Given the description of an element on the screen output the (x, y) to click on. 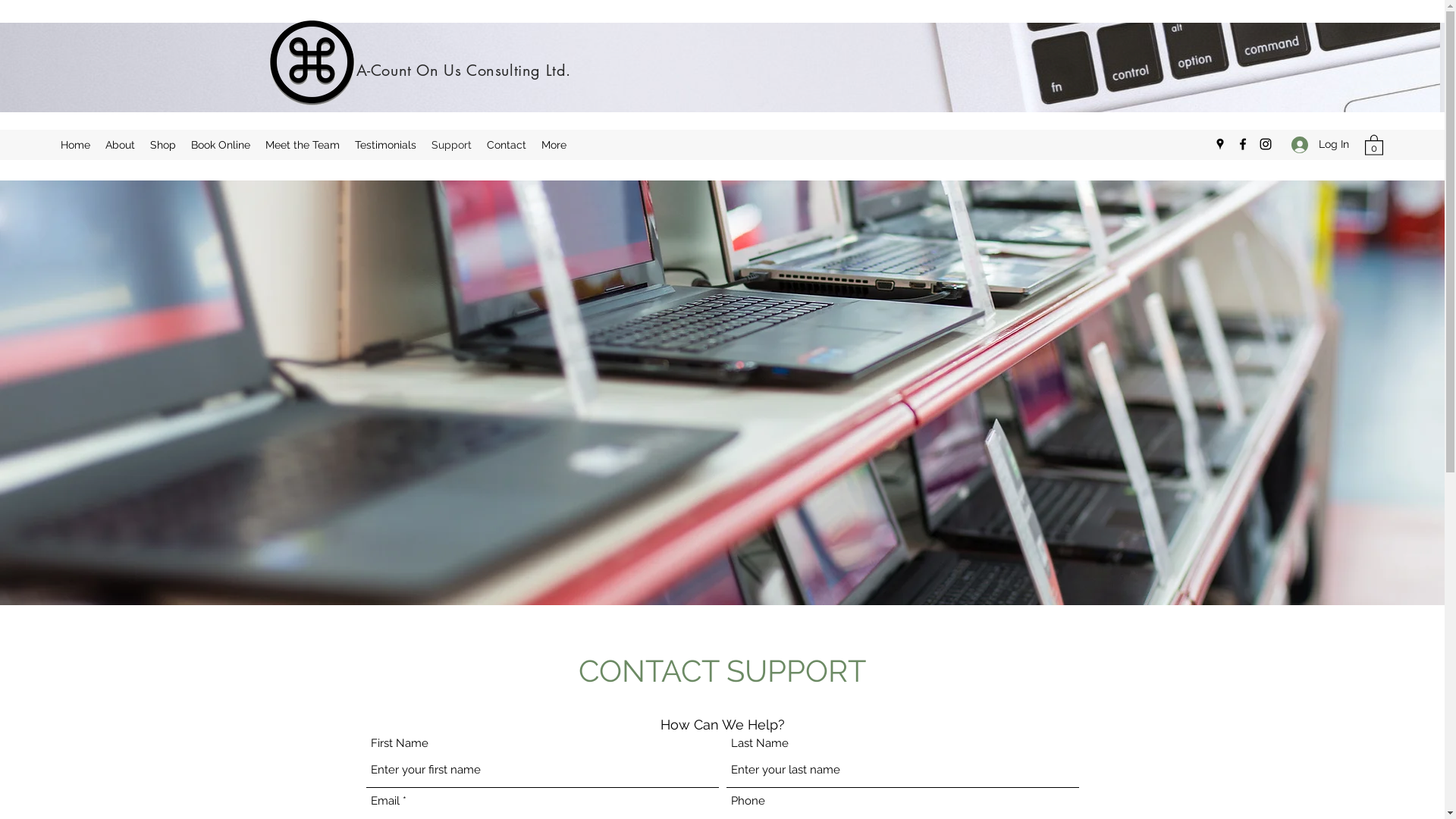
Contact Element type: text (506, 144)
0 Element type: text (1374, 144)
Support Element type: text (451, 144)
Log In Element type: text (1319, 144)
About Element type: text (119, 144)
Testimonials Element type: text (385, 144)
Book Online Element type: text (220, 144)
Home Element type: text (75, 144)
a-countlogo1_edited.png Element type: hover (310, 61)
Shop Element type: text (162, 144)
Meet the Team Element type: text (302, 144)
